Given the description of an element on the screen output the (x, y) to click on. 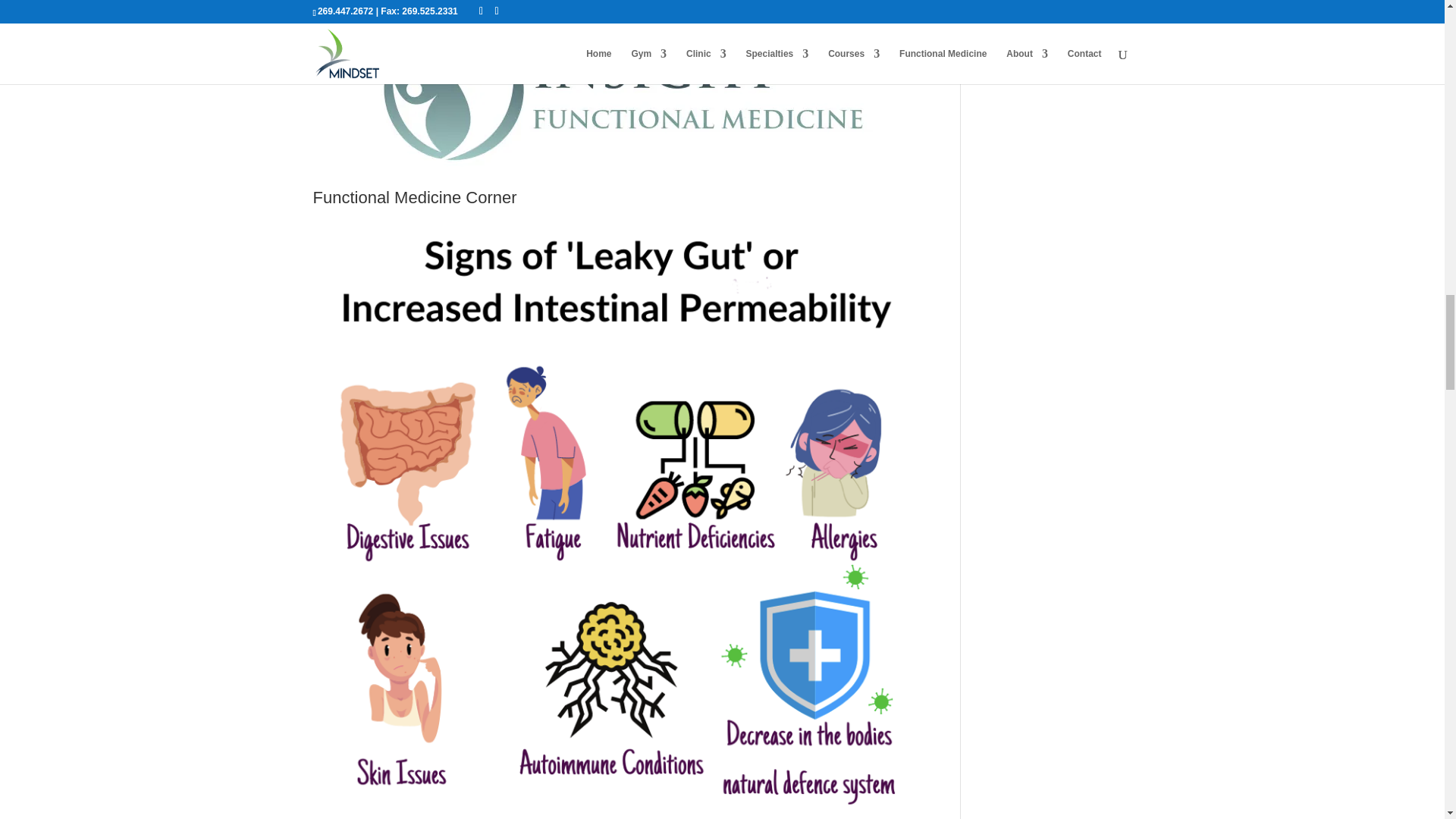
Insight-Banner (613, 90)
